Given the description of an element on the screen output the (x, y) to click on. 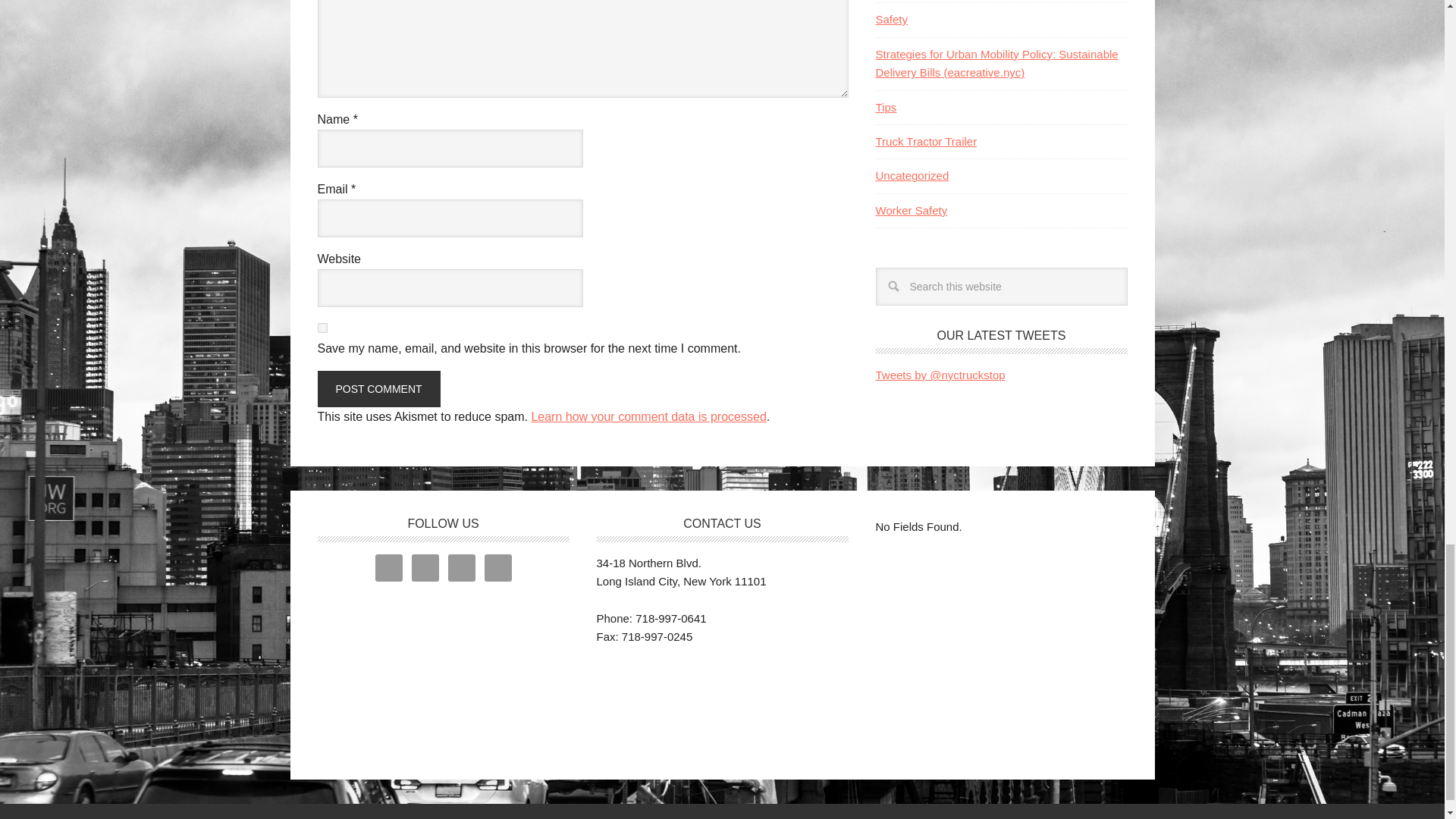
yes (321, 327)
Post Comment (378, 389)
Post Comment (378, 389)
